Given the description of an element on the screen output the (x, y) to click on. 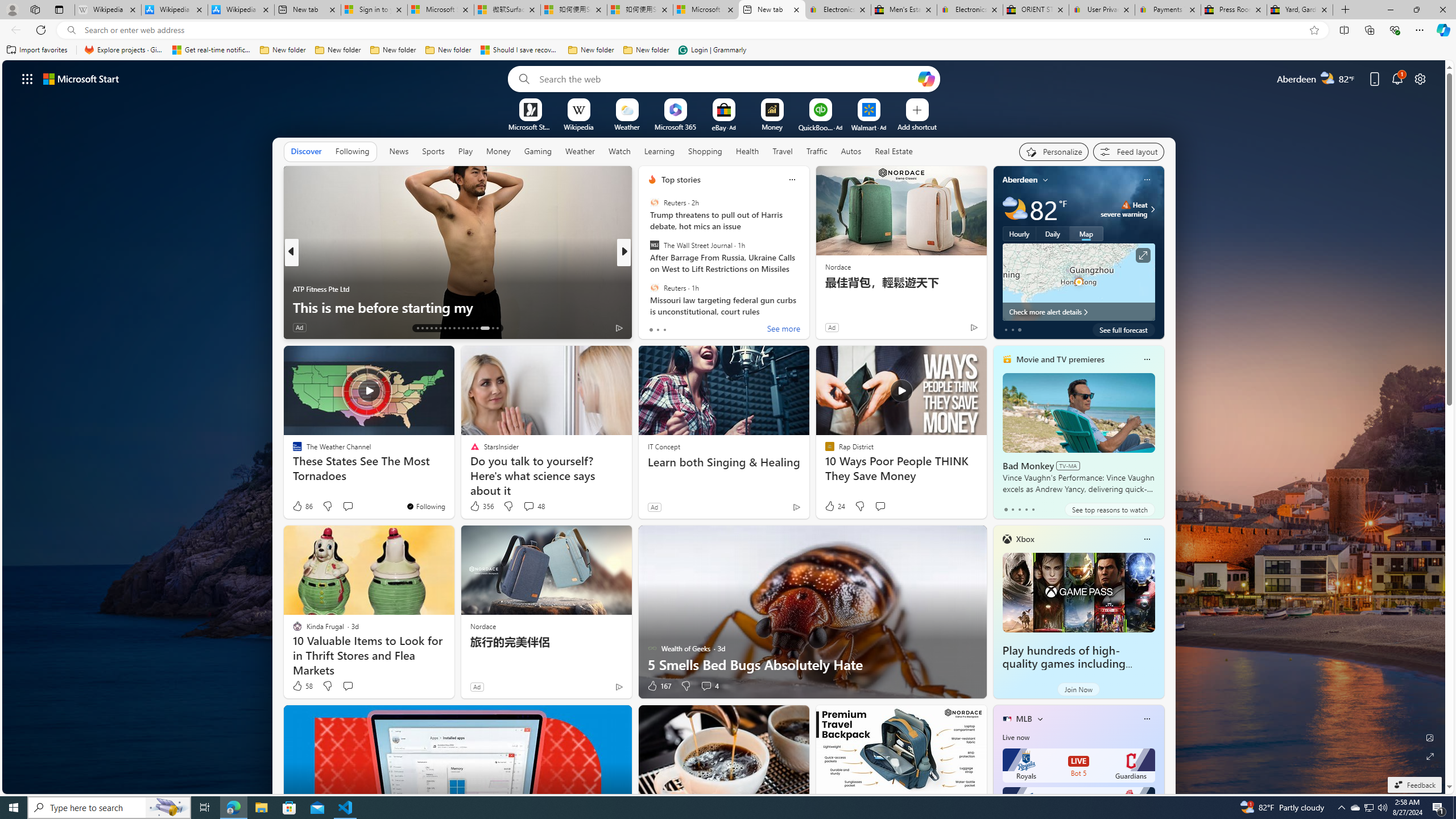
AutomationID: tab-20 (449, 328)
Partly cloudy (1014, 208)
Watch (619, 151)
Travel (782, 151)
GOBankingRates (647, 270)
More Options (886, 101)
Daily (1052, 233)
Traffic (816, 151)
Movie and TV premieres (1060, 359)
